Given the description of an element on the screen output the (x, y) to click on. 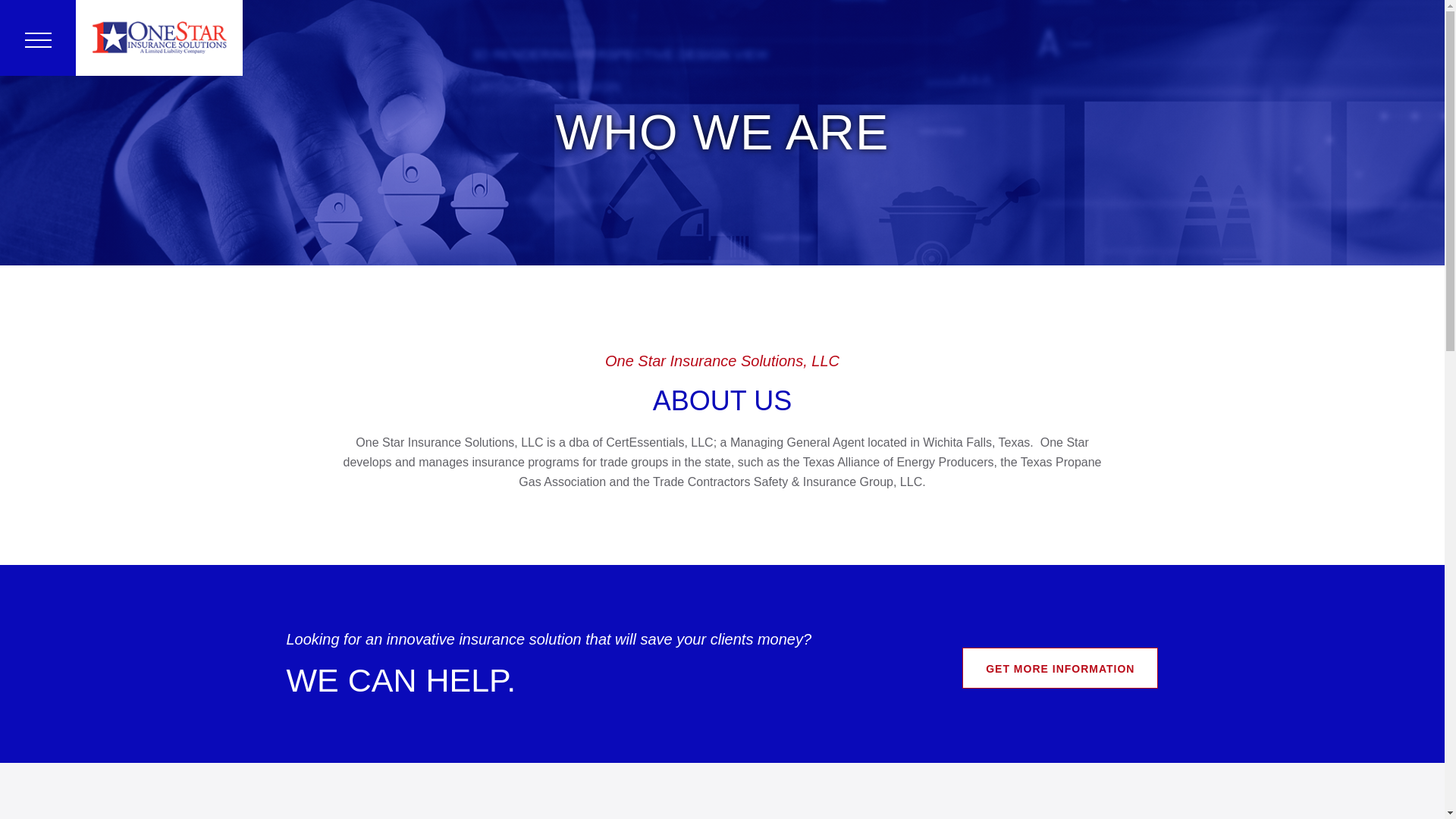
GET MORE INFORMATION Element type: text (1059, 667)
